Given the description of an element on the screen output the (x, y) to click on. 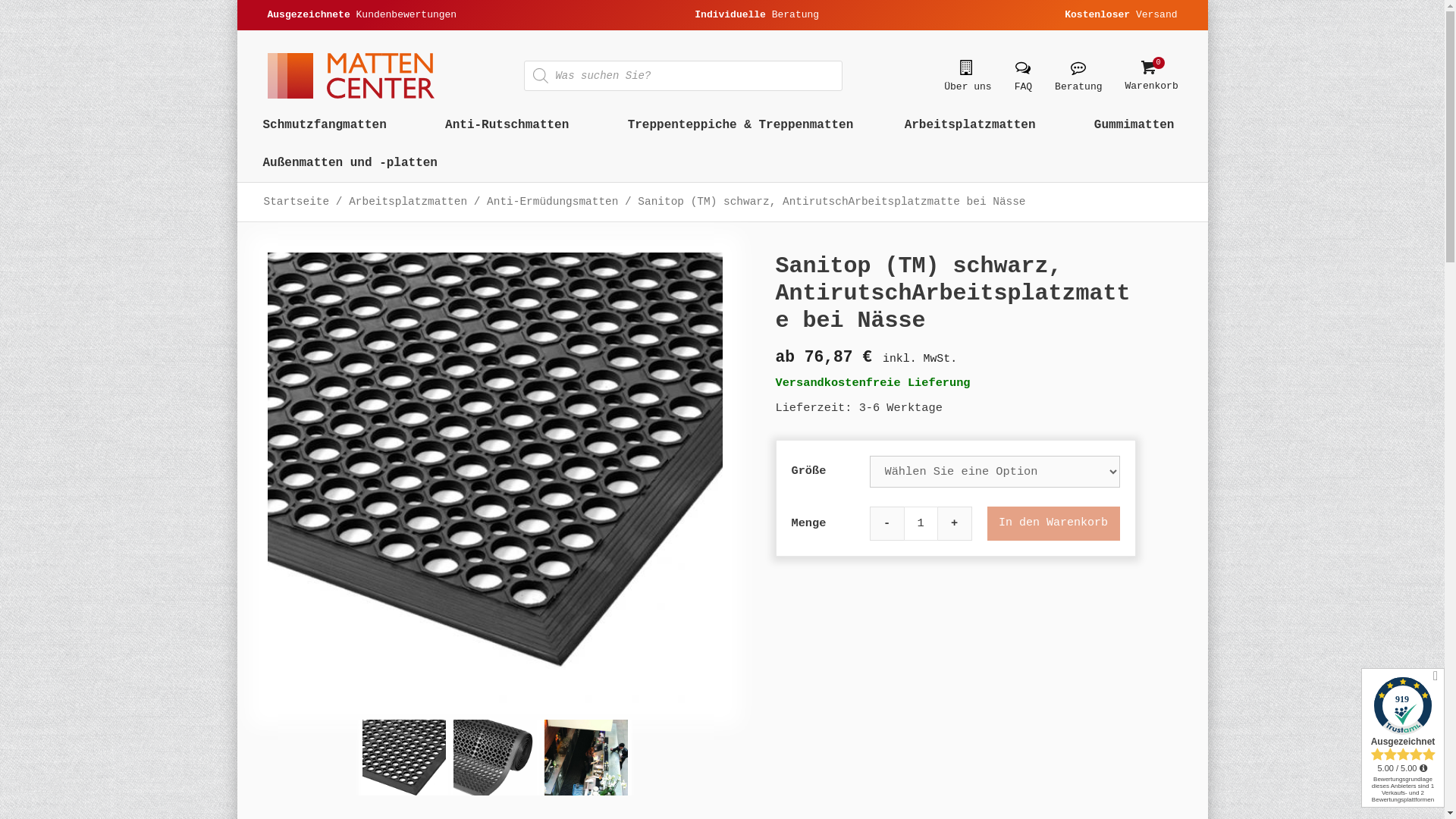
antirutschmatte-sanitop-cafe Element type: hover (585, 761)
Matten.Center Element type: hover (349, 75)
Anti-Rutschmatten Element type: text (510, 125)
Treppenteppiche & Treppenmatten Element type: text (740, 125)
+ Element type: text (954, 523)
Trustami Element type: hover (1402, 737)
- Element type: text (886, 523)
FAQ Element type: text (1023, 76)
Arbeitsplatzmatten Element type: text (407, 201)
Matten.Center Element type: hover (349, 75)
In den Warenkorb Element type: text (1053, 523)
Gummimatten Element type: text (1138, 125)
Startseite Element type: text (296, 201)
Schmutzfangmatten Element type: text (328, 125)
antirutschmatte-sanitop-schwarz Element type: hover (494, 761)
Arbeitsplatzmatten Element type: text (973, 125)
Beratung Element type: text (1078, 76)
